Given the description of an element on the screen output the (x, y) to click on. 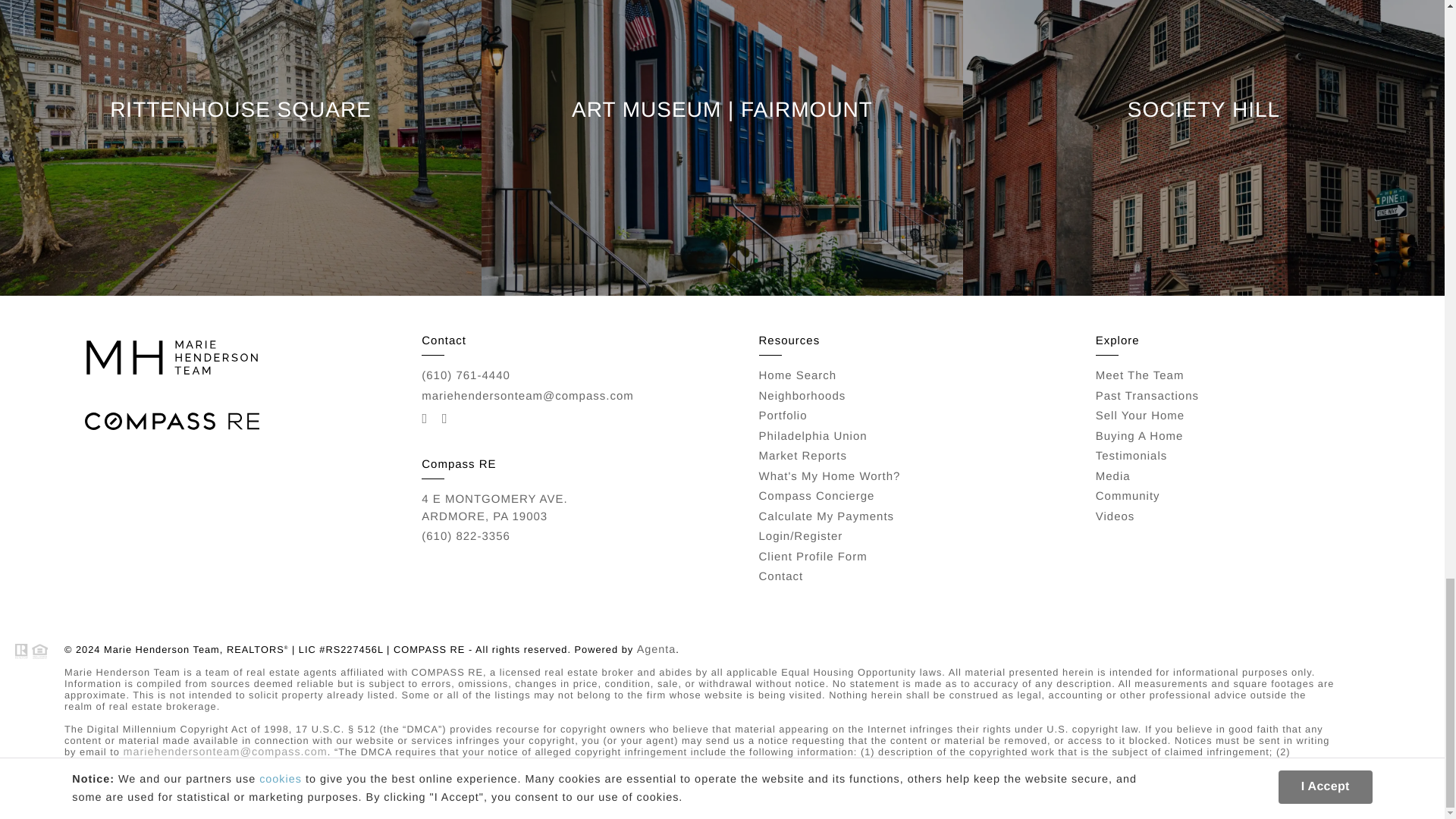
Equal Housing Opportunity (31, 651)
Logo (171, 357)
Brokerage Logo (171, 420)
